Given the description of an element on the screen output the (x, y) to click on. 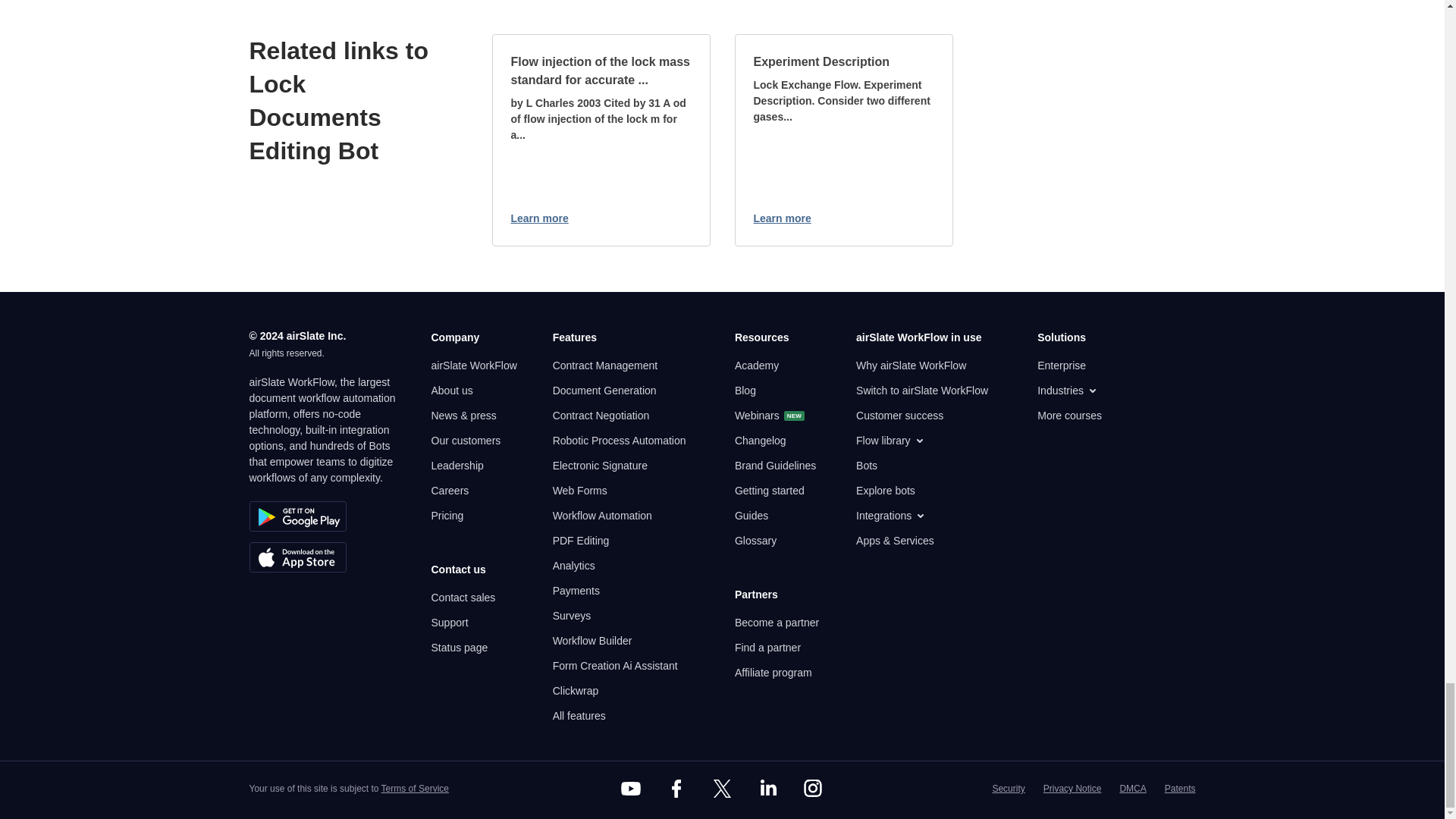
YouTube (630, 788)
Twitter (721, 788)
LinkedIn (767, 788)
Facebook (676, 788)
Instagram (812, 788)
